Given the description of an element on the screen output the (x, y) to click on. 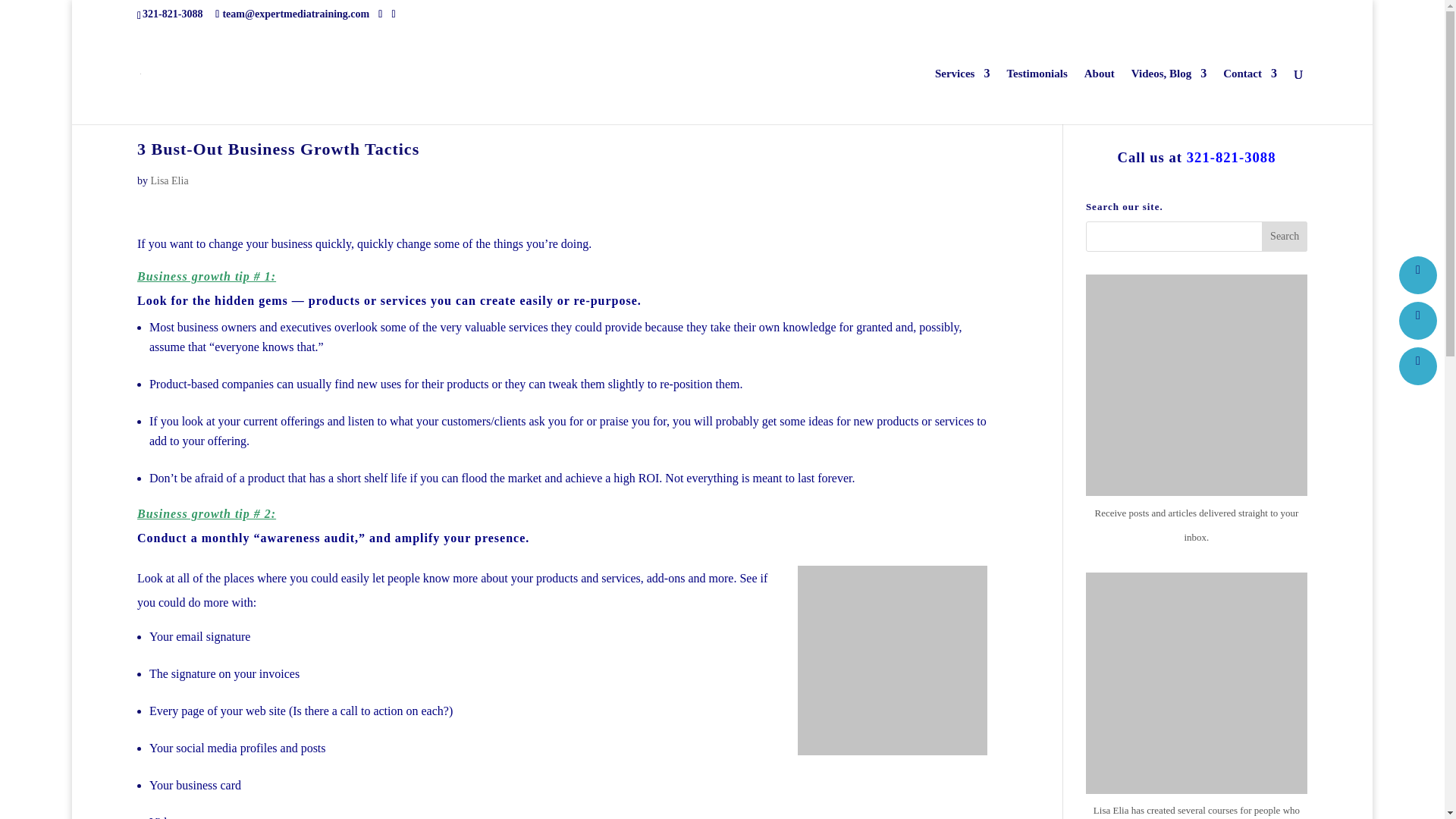
Search (1284, 236)
Search (1284, 236)
Testimonials (1036, 95)
Lisa Elia (168, 180)
Services (962, 95)
Videos, Blog (1169, 95)
Posts by Lisa Elia (168, 180)
Call us at 321-821-3088 (1195, 157)
Contact (1249, 95)
